Given the description of an element on the screen output the (x, y) to click on. 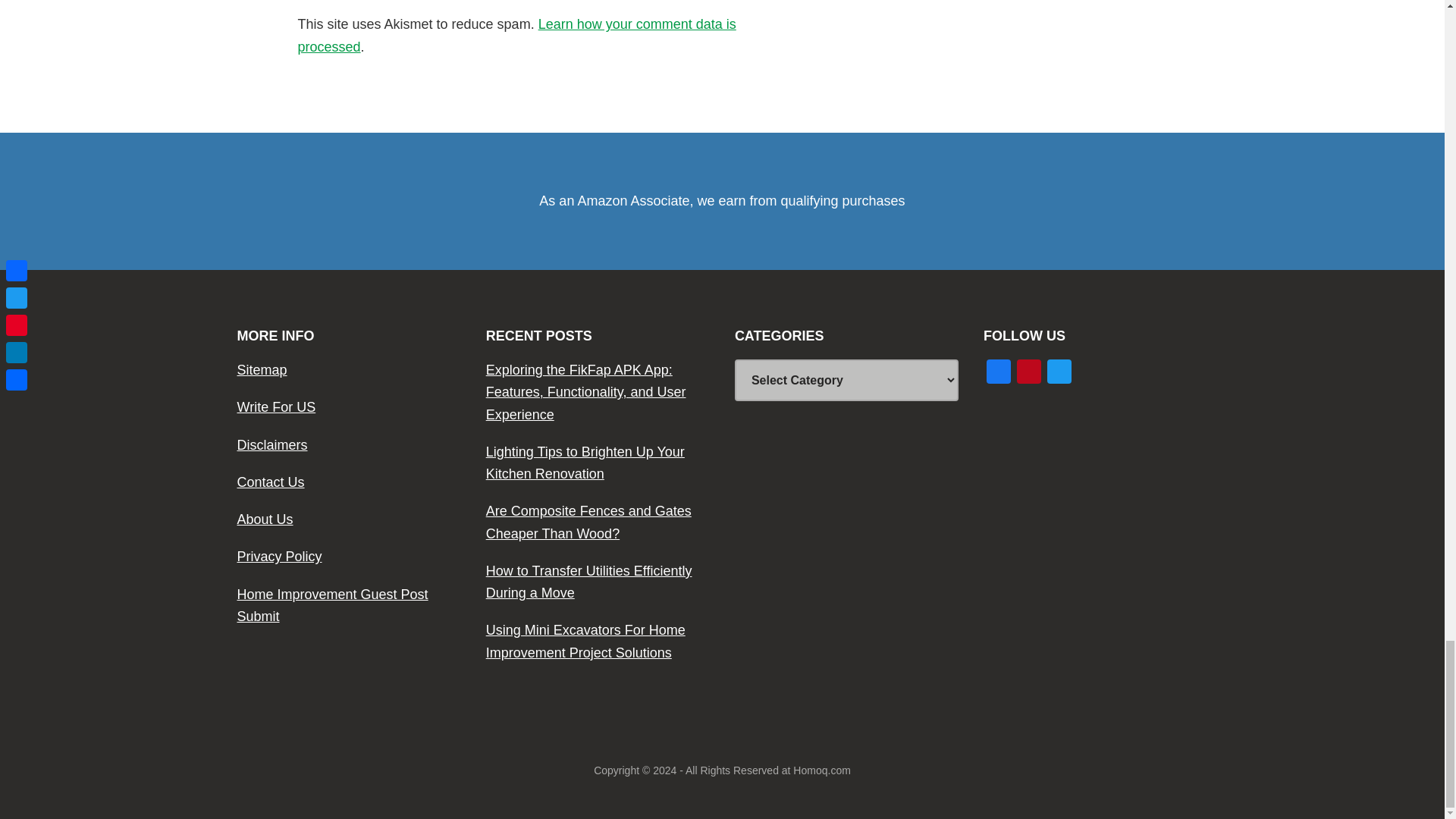
Facebook (998, 373)
Pinterest (1028, 373)
Twitter (1058, 373)
